Given the description of an element on the screen output the (x, y) to click on. 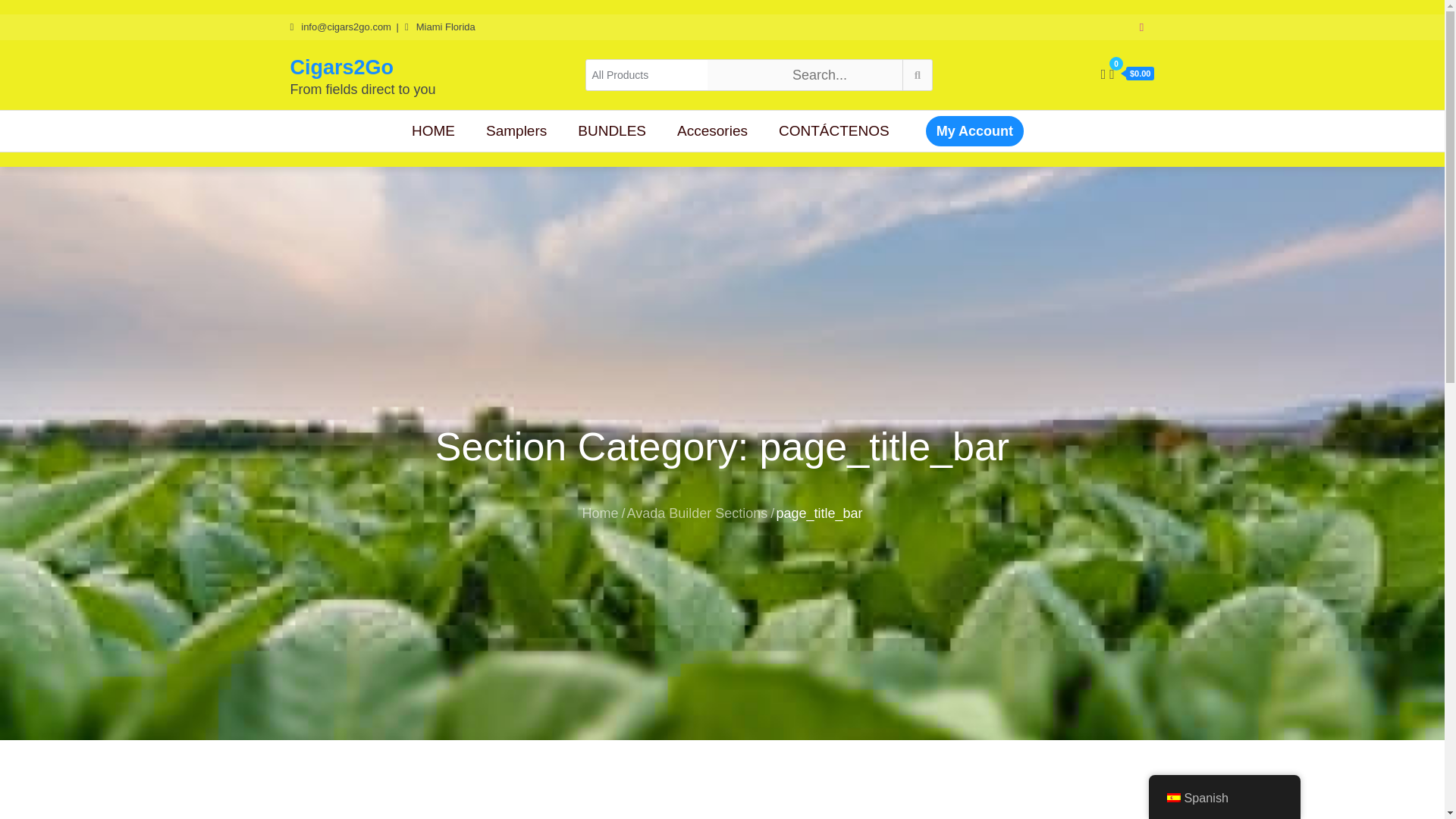
Spanish (1224, 797)
HOME (433, 130)
My Account (974, 131)
Samplers (516, 130)
Spanish (1172, 797)
Cigars2Go (341, 67)
Home (600, 513)
BUNDLES (612, 130)
Accesories (712, 130)
Avada Builder Sections (697, 513)
